Given the description of an element on the screen output the (x, y) to click on. 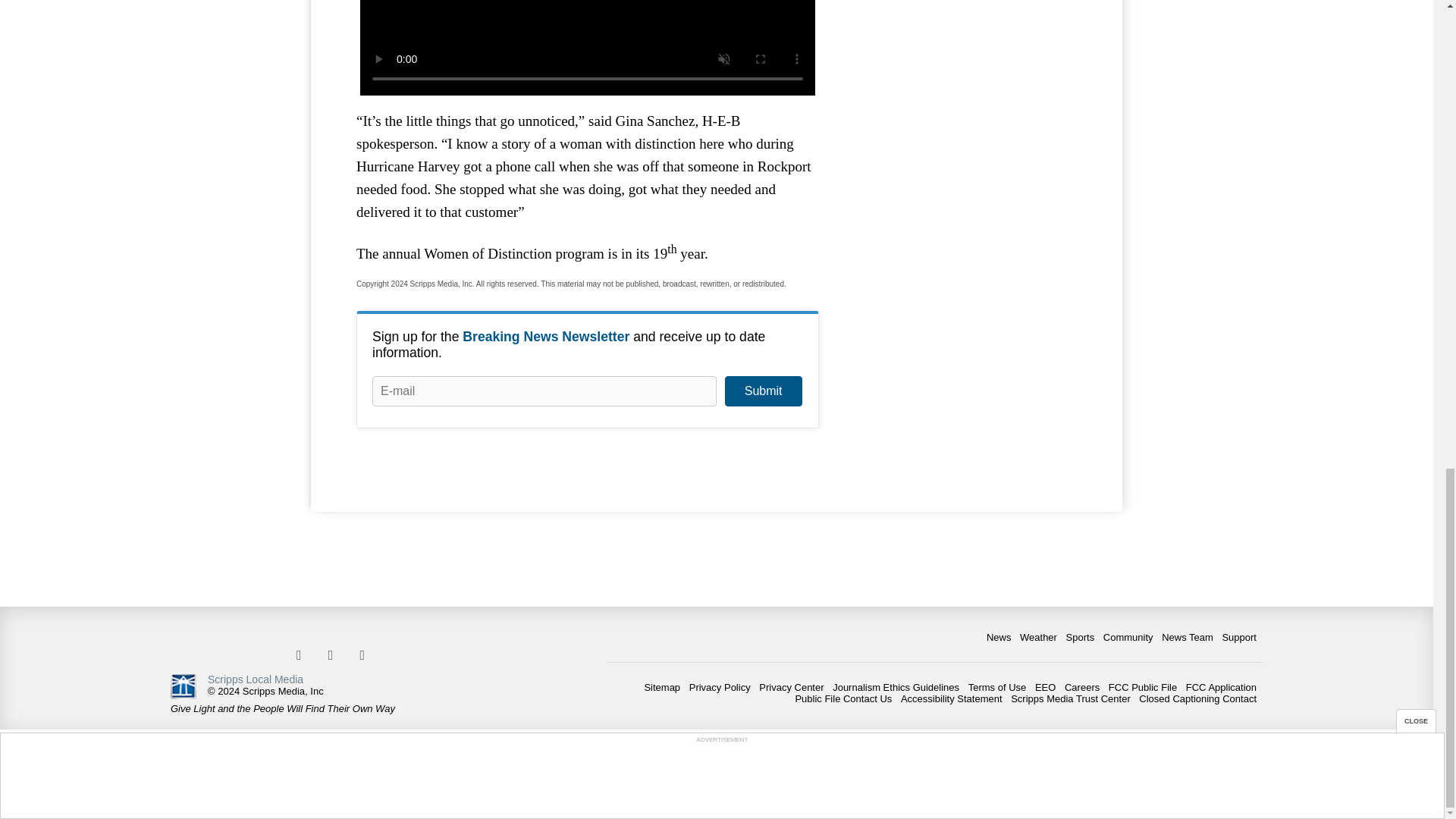
Submit (763, 390)
